Given the description of an element on the screen output the (x, y) to click on. 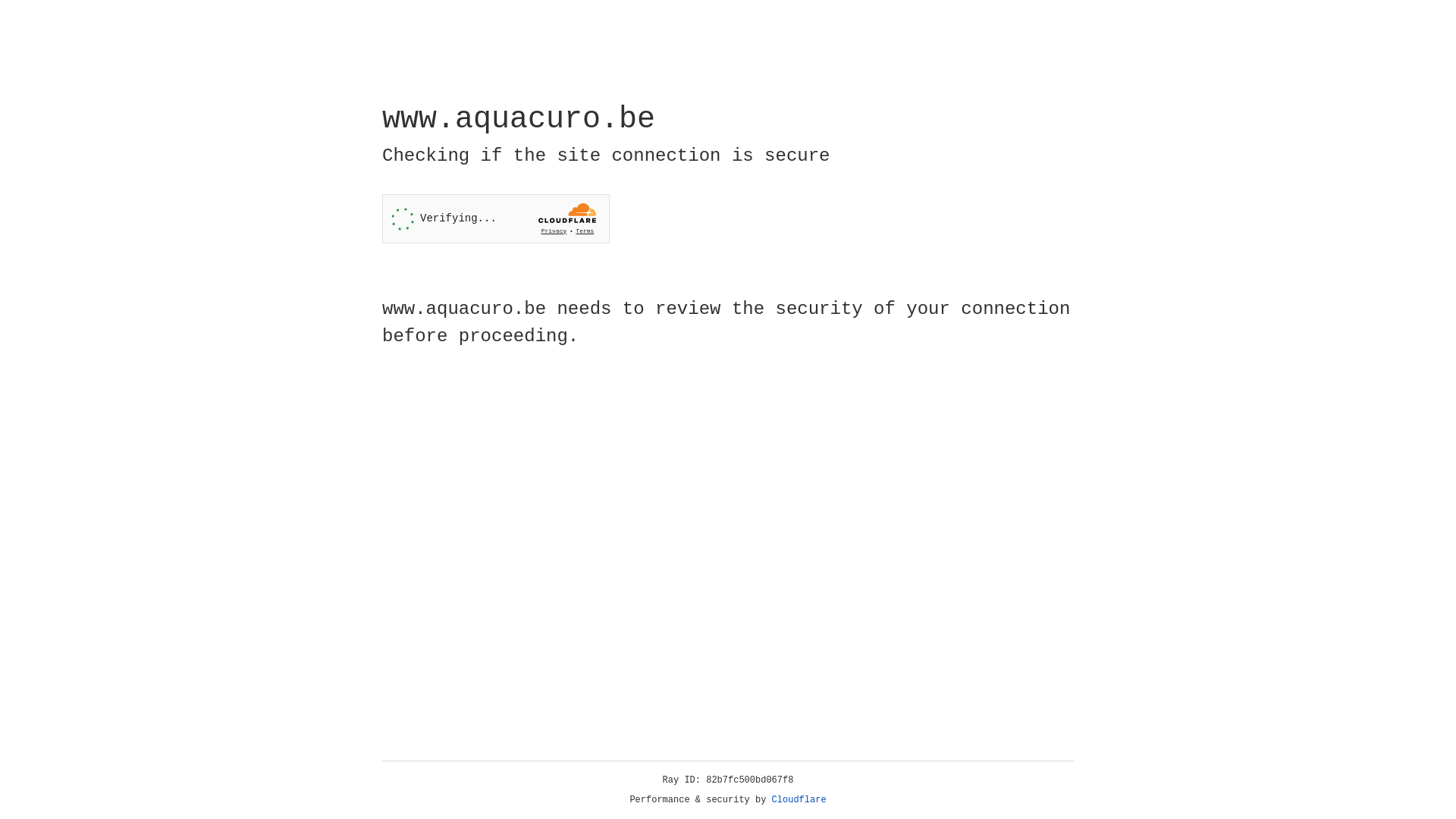
Cloudflare Element type: text (798, 799)
Widget containing a Cloudflare security challenge Element type: hover (495, 218)
